Given the description of an element on the screen output the (x, y) to click on. 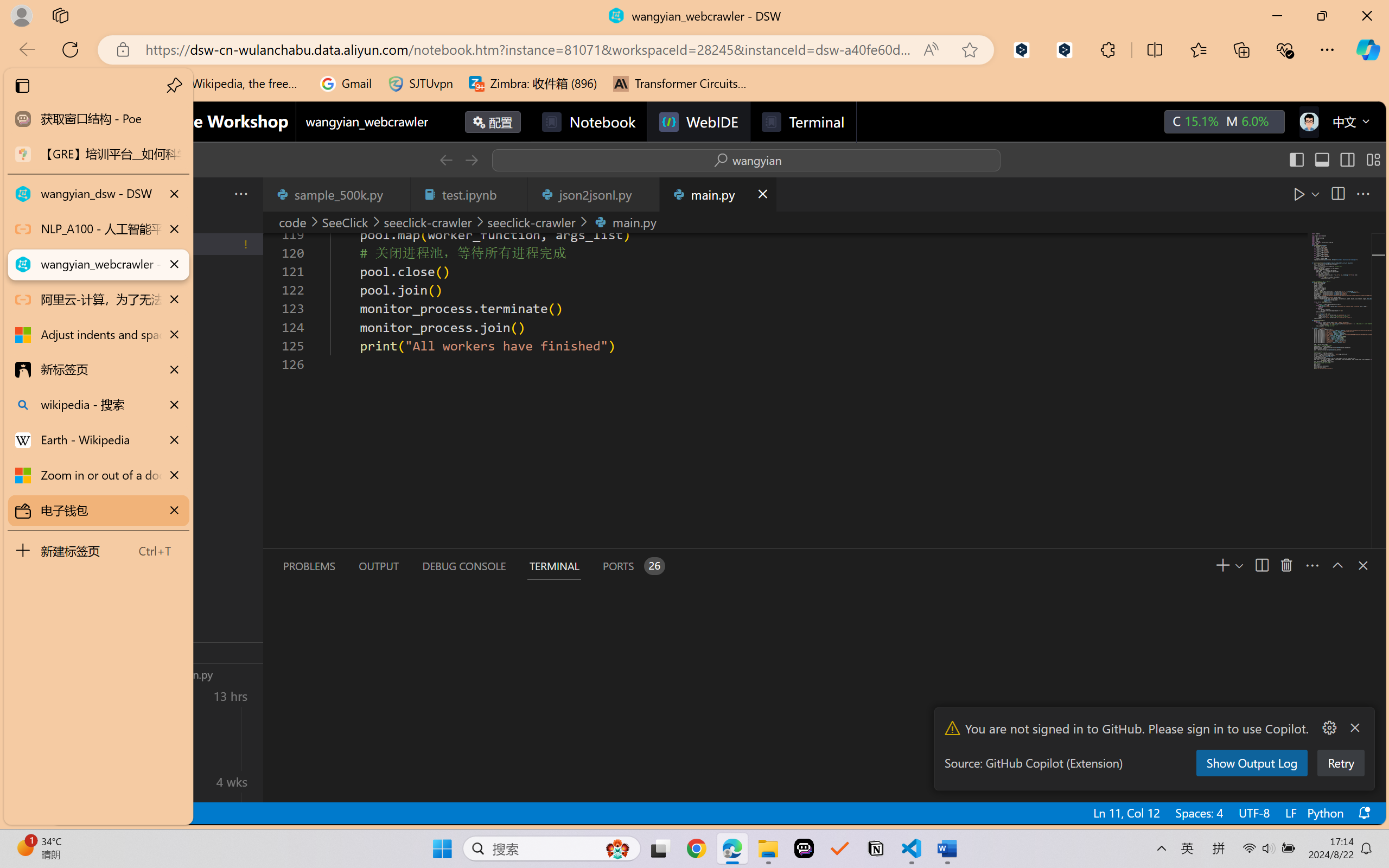
Spaces: 4 (1198, 812)
Copilot (Ctrl+Shift+.) (1368, 49)
wangyian_dsw - DSW (97, 194)
Class: next-menu next-hoz widgets--iconMenu--BFkiHRM (1308, 121)
Toggle Panel (Ctrl+J) (1320, 159)
Show Output Log (1251, 762)
Transformer Circuits Thread (680, 83)
Manage (73, 778)
Kill Terminal (1286, 565)
main.py (717, 194)
